Given the description of an element on the screen output the (x, y) to click on. 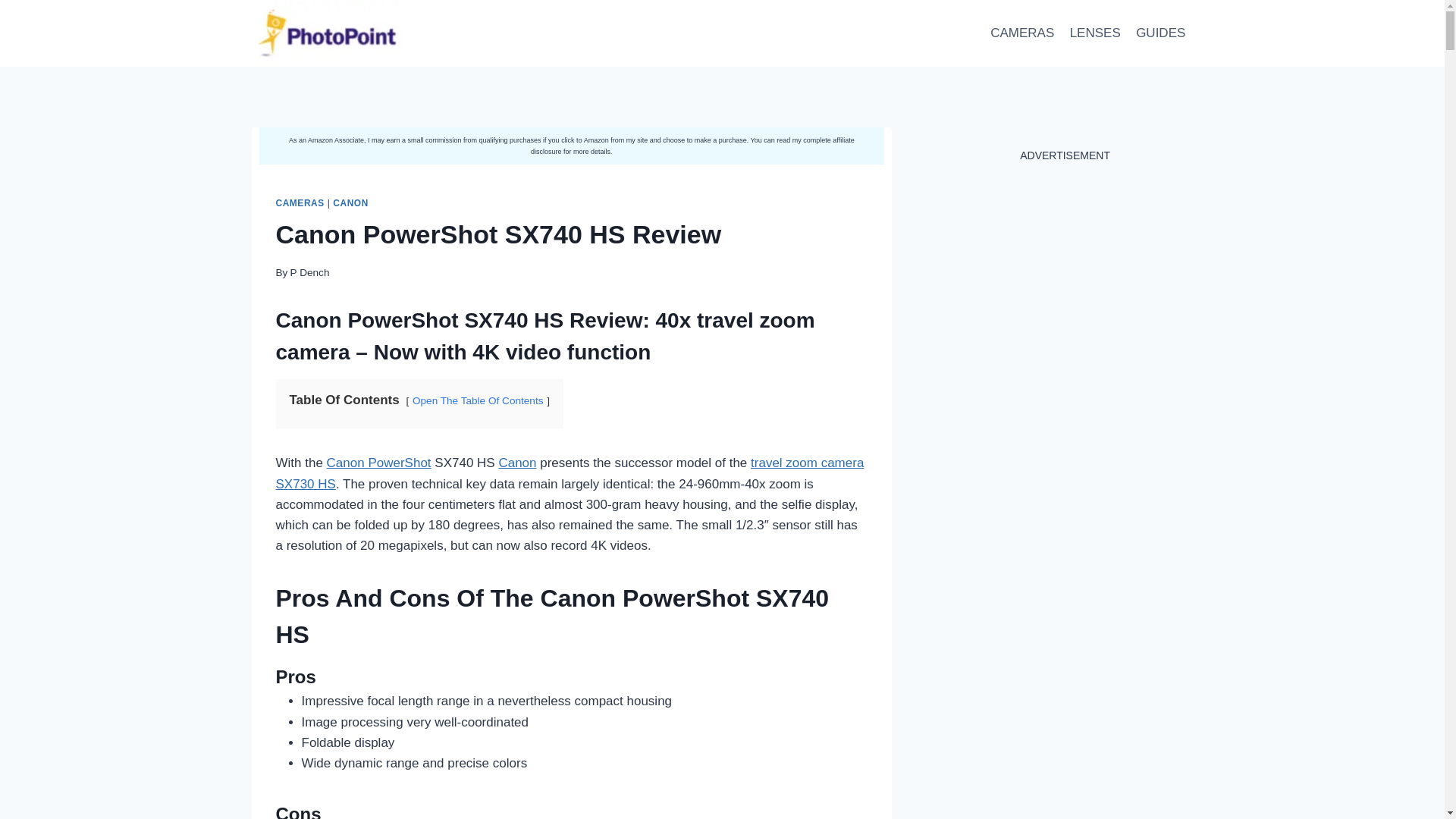
P Dench (309, 272)
Open The Table Of Contents (477, 400)
GUIDES (1160, 33)
CAMERAS (300, 203)
CAMERAS (1021, 33)
travel zoom camera SX730 HS (570, 472)
CANON (350, 203)
LENSES (1093, 33)
Canon (516, 462)
Canon PowerShot (378, 462)
